Given the description of an element on the screen output the (x, y) to click on. 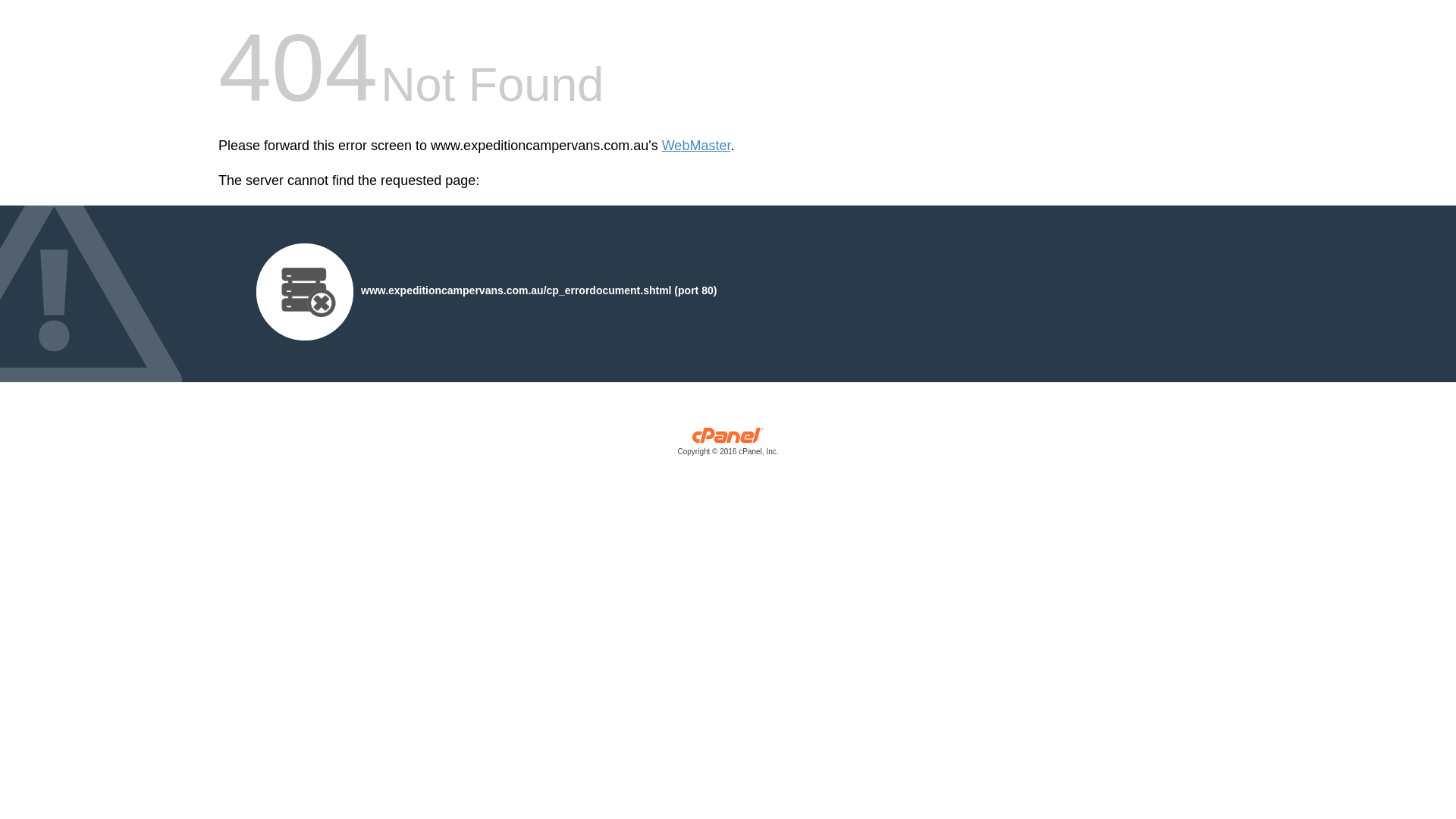
WebMaster Element type: text (696, 145)
